Given the description of an element on the screen output the (x, y) to click on. 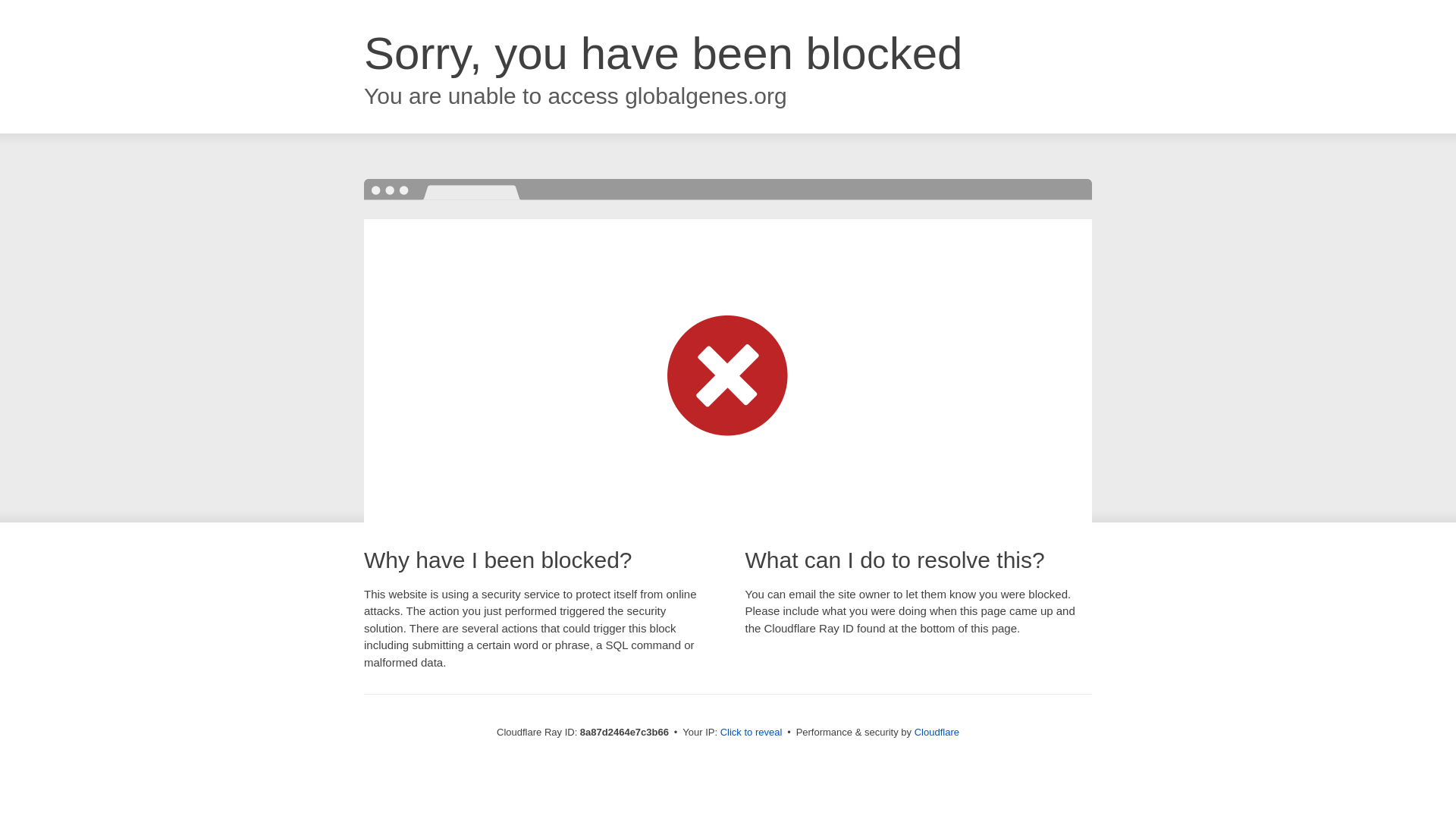
Cloudflare (936, 731)
Click to reveal (751, 732)
